Given the description of an element on the screen output the (x, y) to click on. 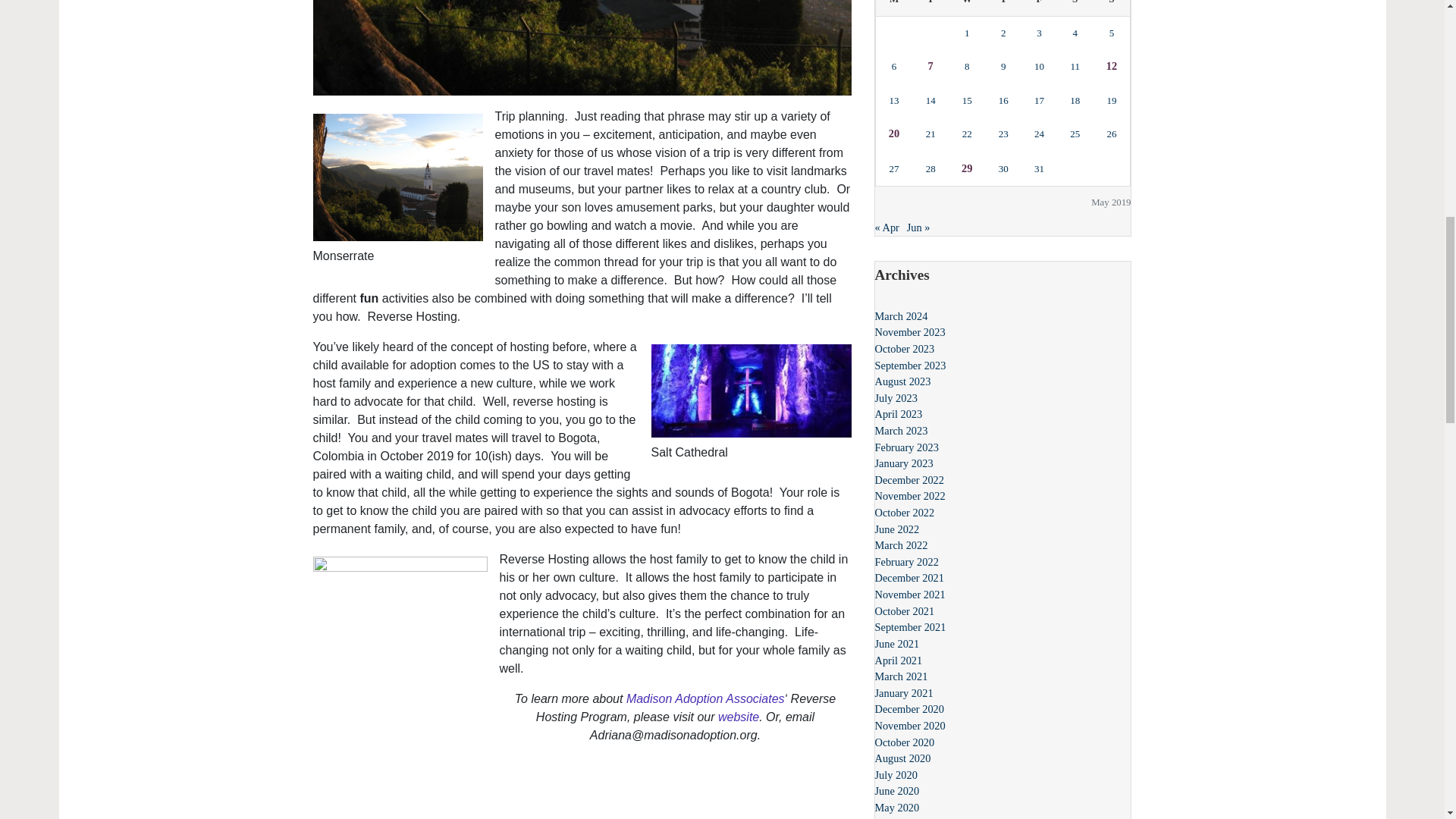
website (737, 716)
Wednesday (967, 8)
Tuesday (930, 8)
Saturday (1075, 8)
Friday (1039, 8)
Monday (893, 8)
Sunday (1112, 8)
Madison Adoption Associates (705, 698)
Thursday (1003, 8)
